Given the description of an element on the screen output the (x, y) to click on. 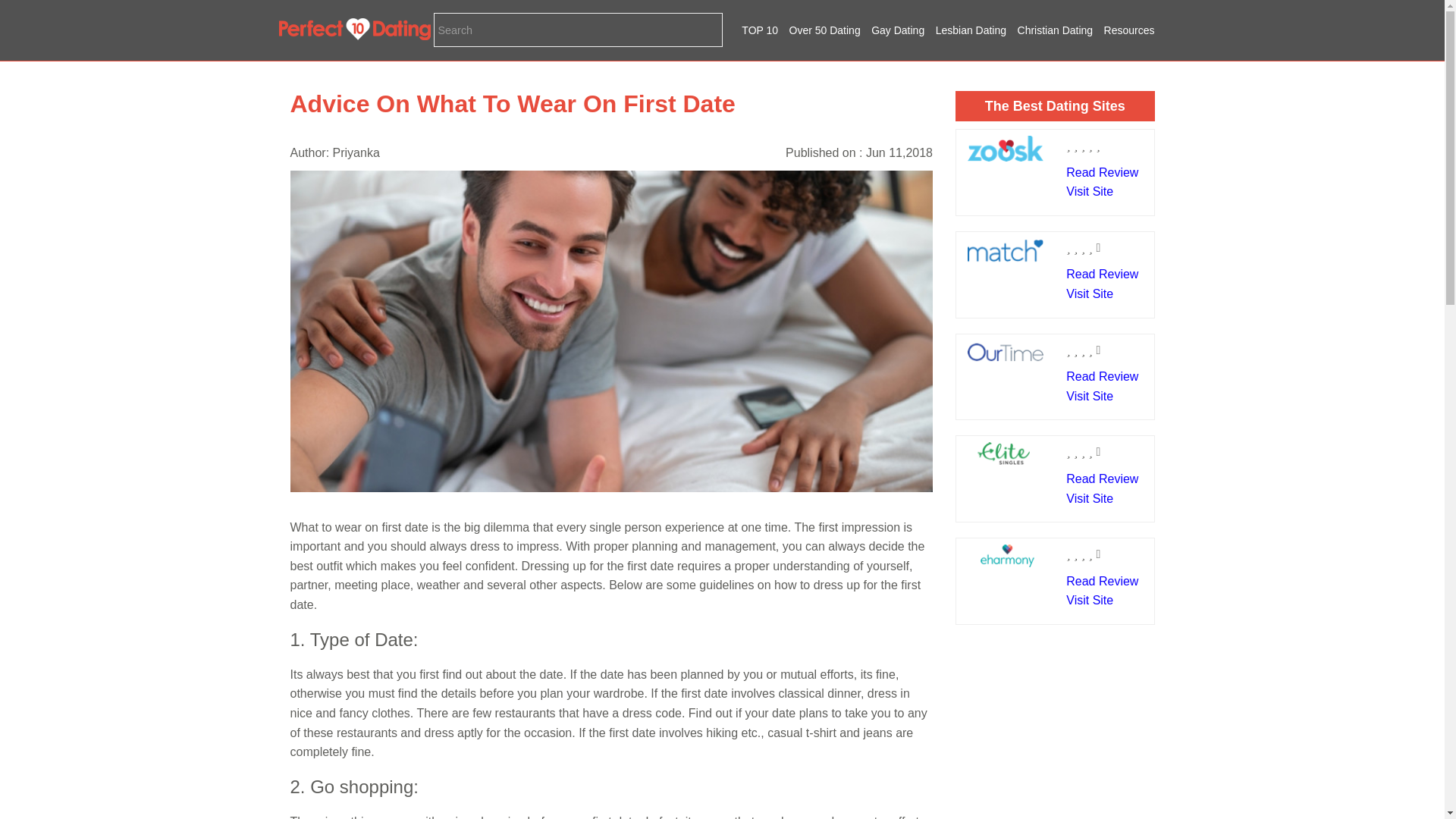
Visit Site (1089, 498)
Visit Site (1089, 395)
Christian Dating (1055, 30)
Lesbian Dating (971, 30)
Read Review (1101, 376)
Read Review (1101, 478)
Visit Site (1089, 191)
Visit Site (1089, 293)
Over 50 Dating (824, 30)
Read Review (1101, 172)
